Given the description of an element on the screen output the (x, y) to click on. 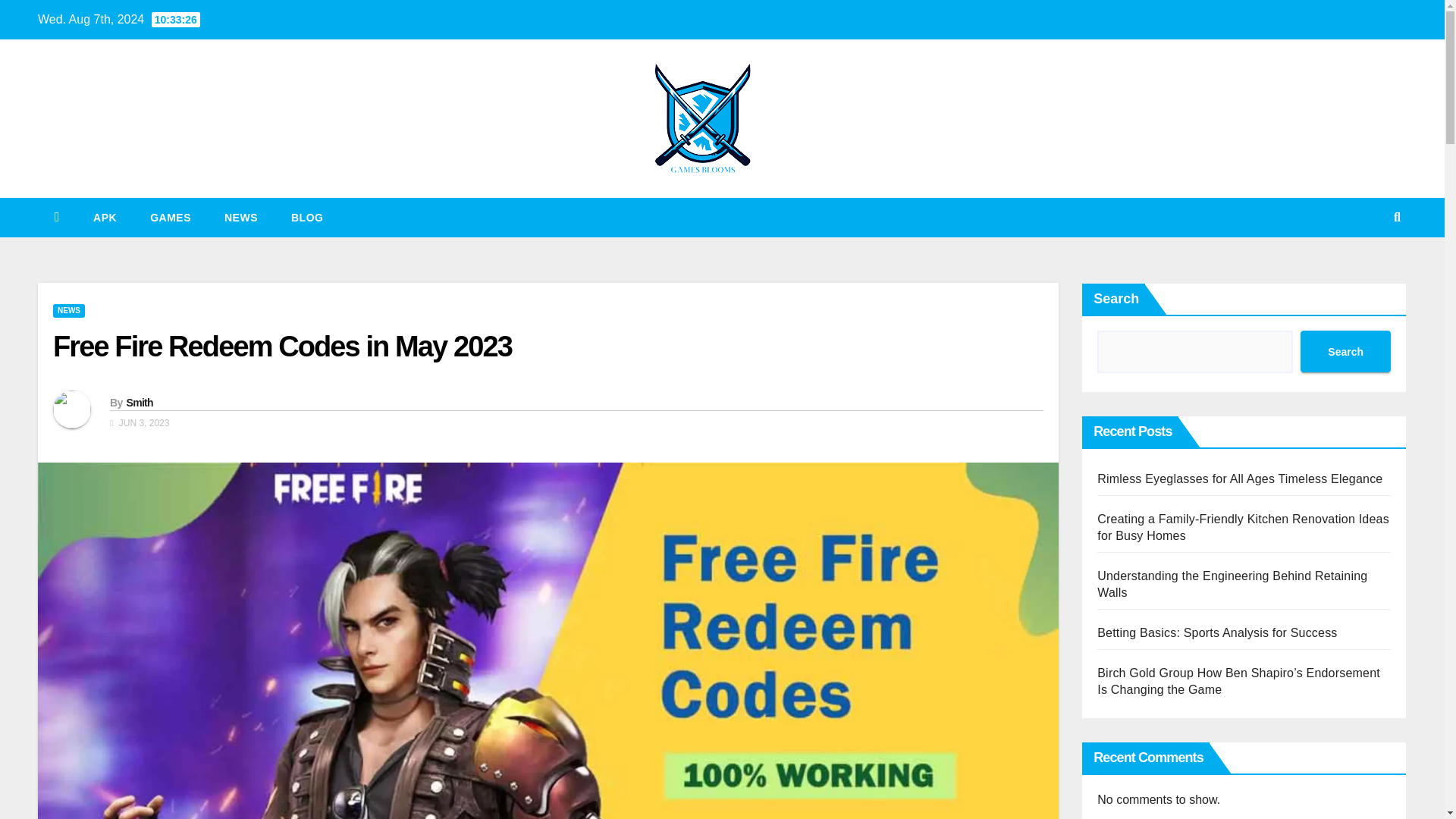
NEWS (68, 310)
Permalink to: Free Fire Redeem Codes in May 2023 (282, 346)
BLOG (307, 217)
Smith (138, 402)
GAMES (170, 217)
Games (170, 217)
News (241, 217)
Blog (307, 217)
Apk (105, 217)
APK (105, 217)
